Given the description of an element on the screen output the (x, y) to click on. 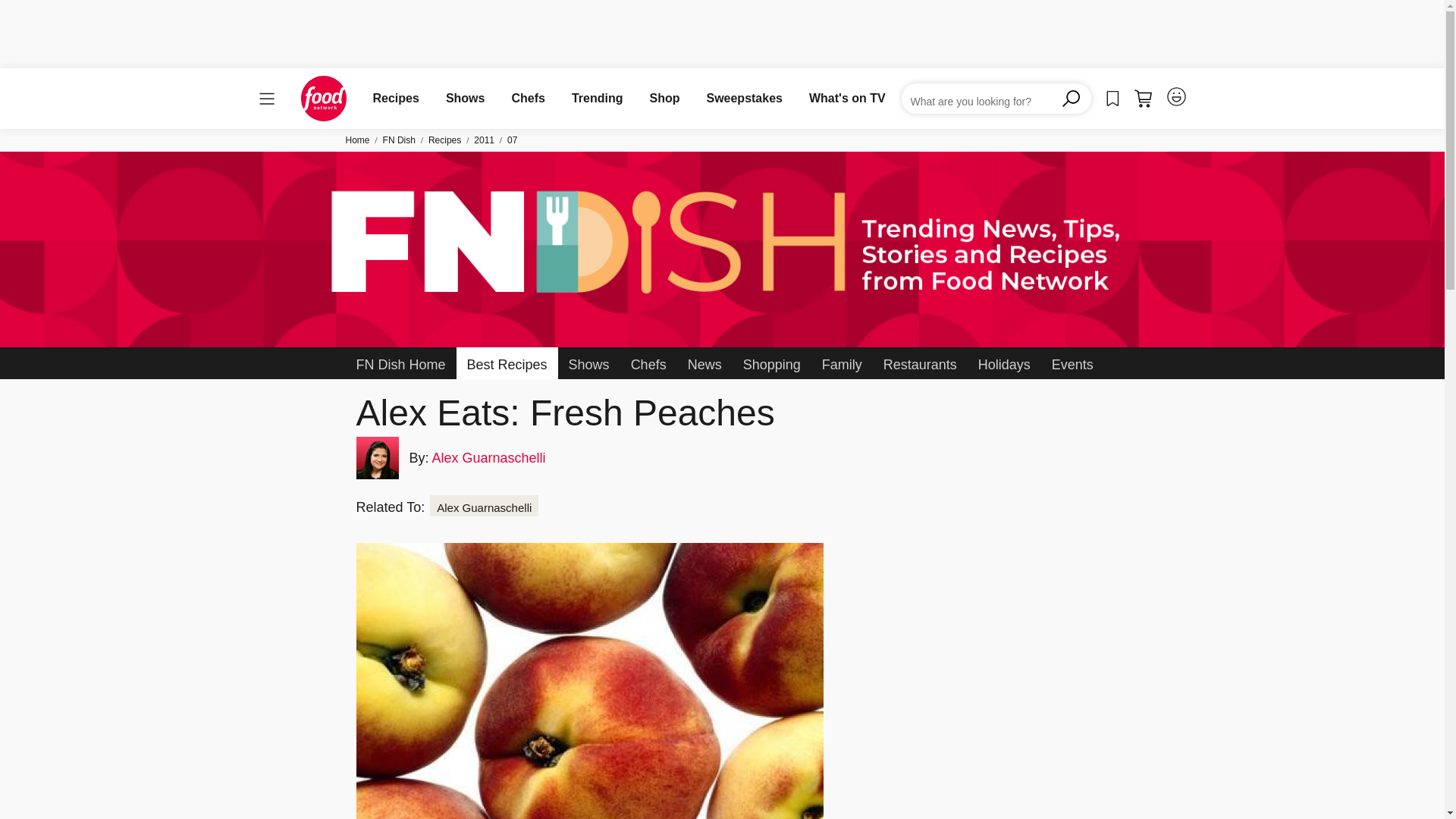
Shows (464, 97)
home (322, 98)
Recipes (395, 97)
